Given the description of an element on the screen output the (x, y) to click on. 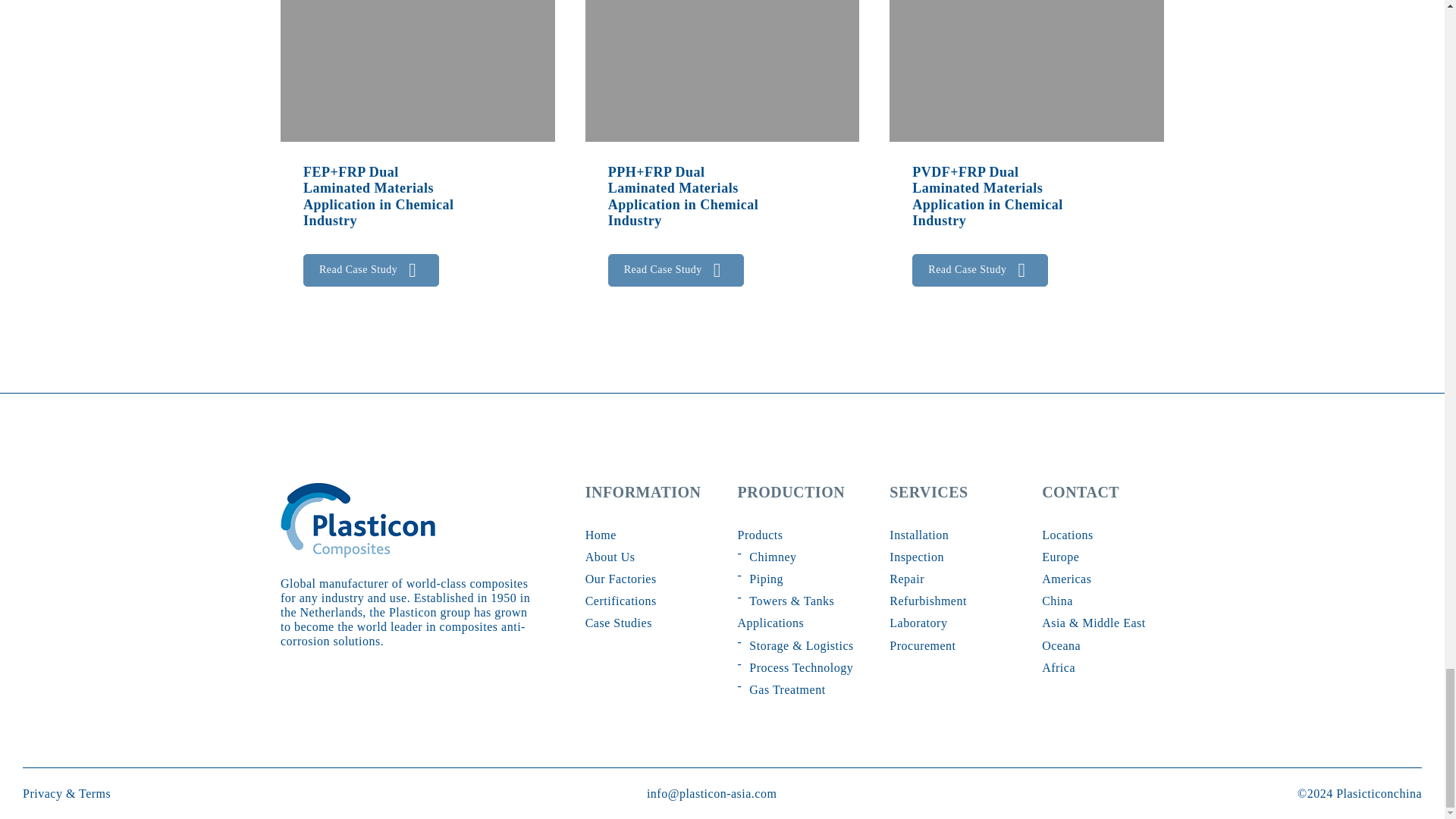
Website Footer Logo Plasticon China (358, 520)
